Given the description of an element on the screen output the (x, y) to click on. 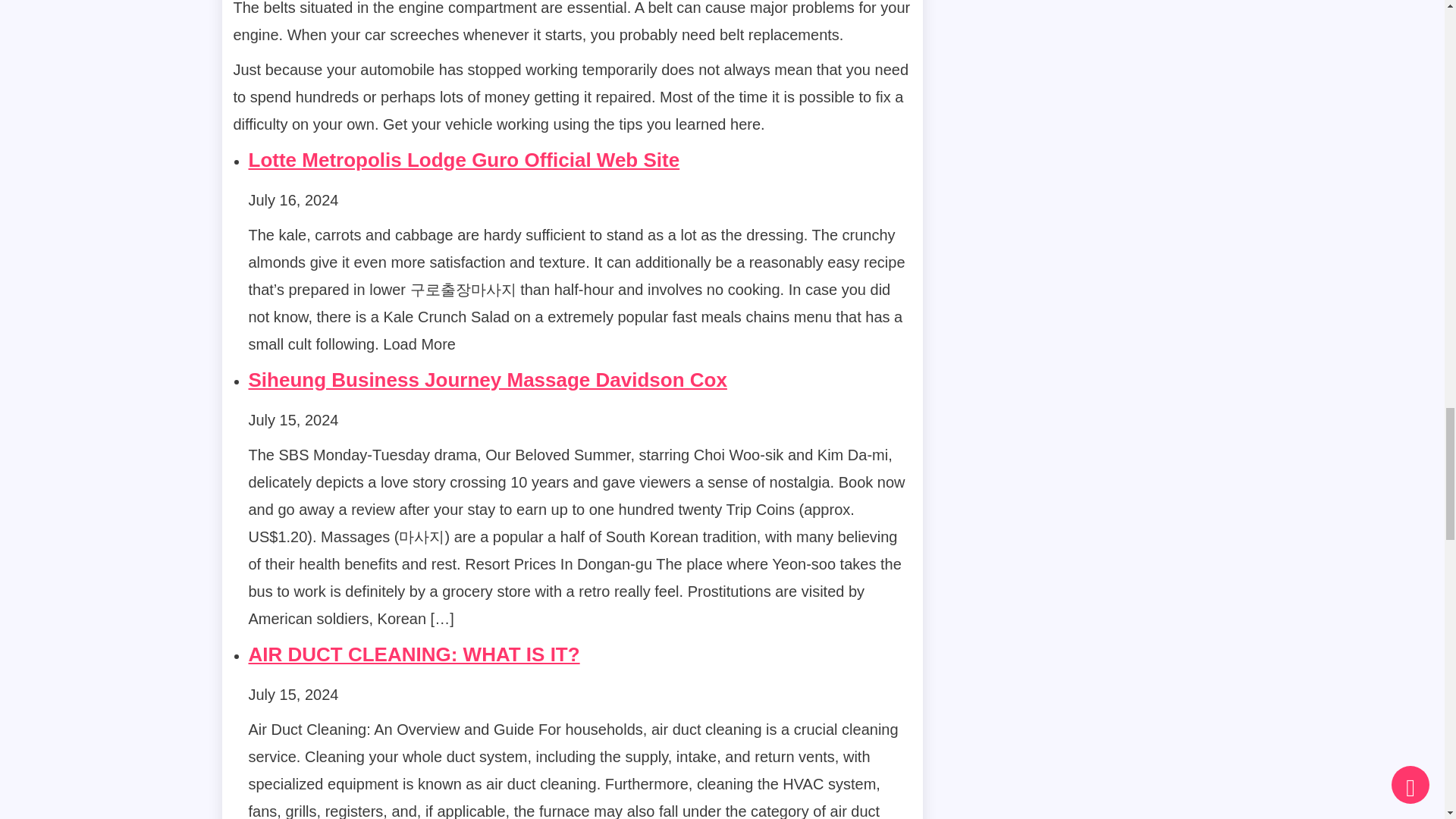
Lotte Metropolis Lodge Guro Official Web Site (463, 159)
AIR DUCT CLEANING: WHAT IS IT? (413, 653)
Siheung Business Journey Massage Davidson Cox (487, 379)
